Given the description of an element on the screen output the (x, y) to click on. 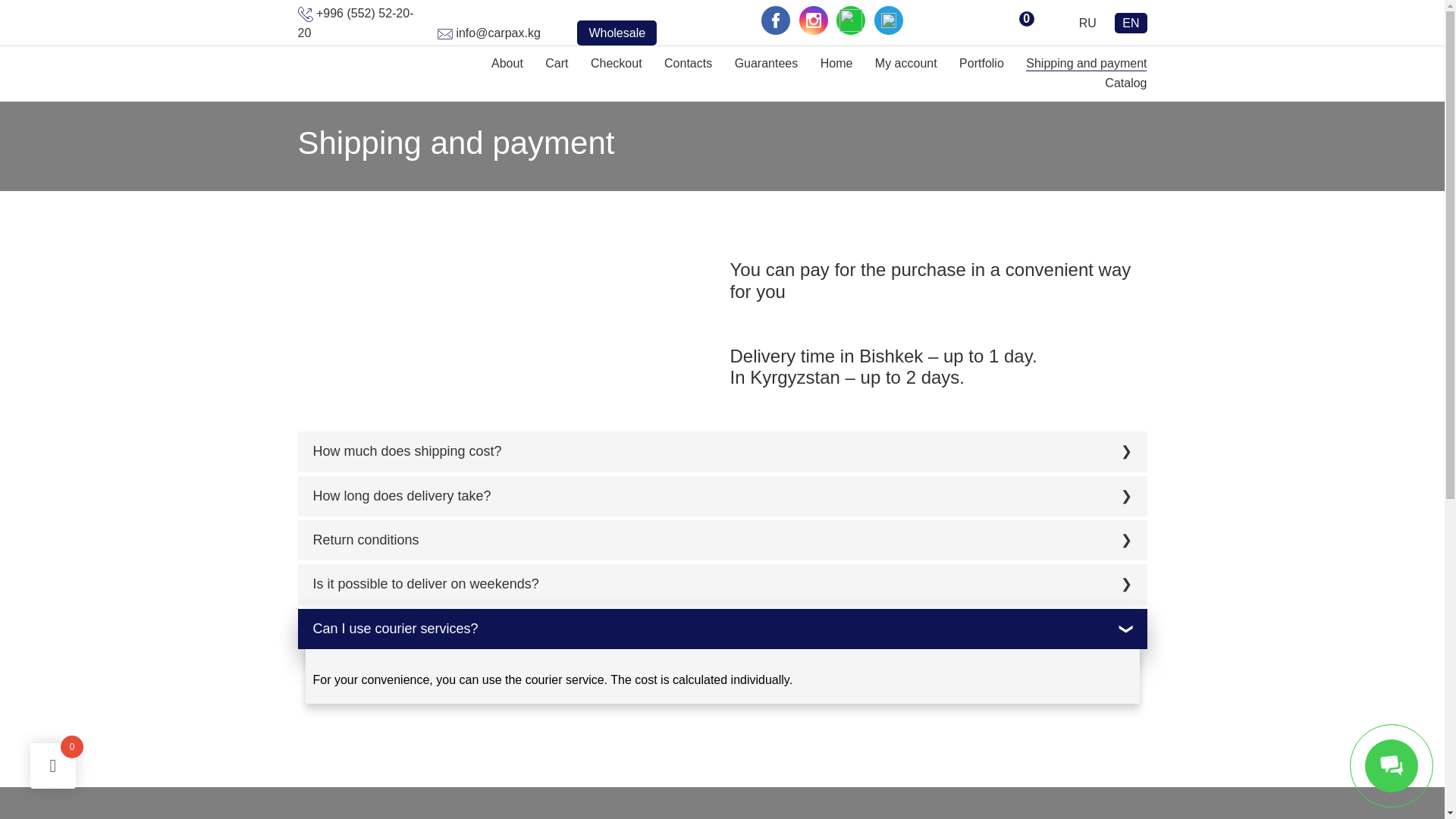
About (507, 62)
Cart (555, 62)
EN (1131, 23)
Checkout (616, 62)
Wholesale (616, 32)
RU (1087, 23)
Contacts (687, 62)
Portfolio (981, 62)
Guarantees (766, 62)
Shipping and payment (1086, 62)
My account (906, 62)
Home (837, 62)
